Given the description of an element on the screen output the (x, y) to click on. 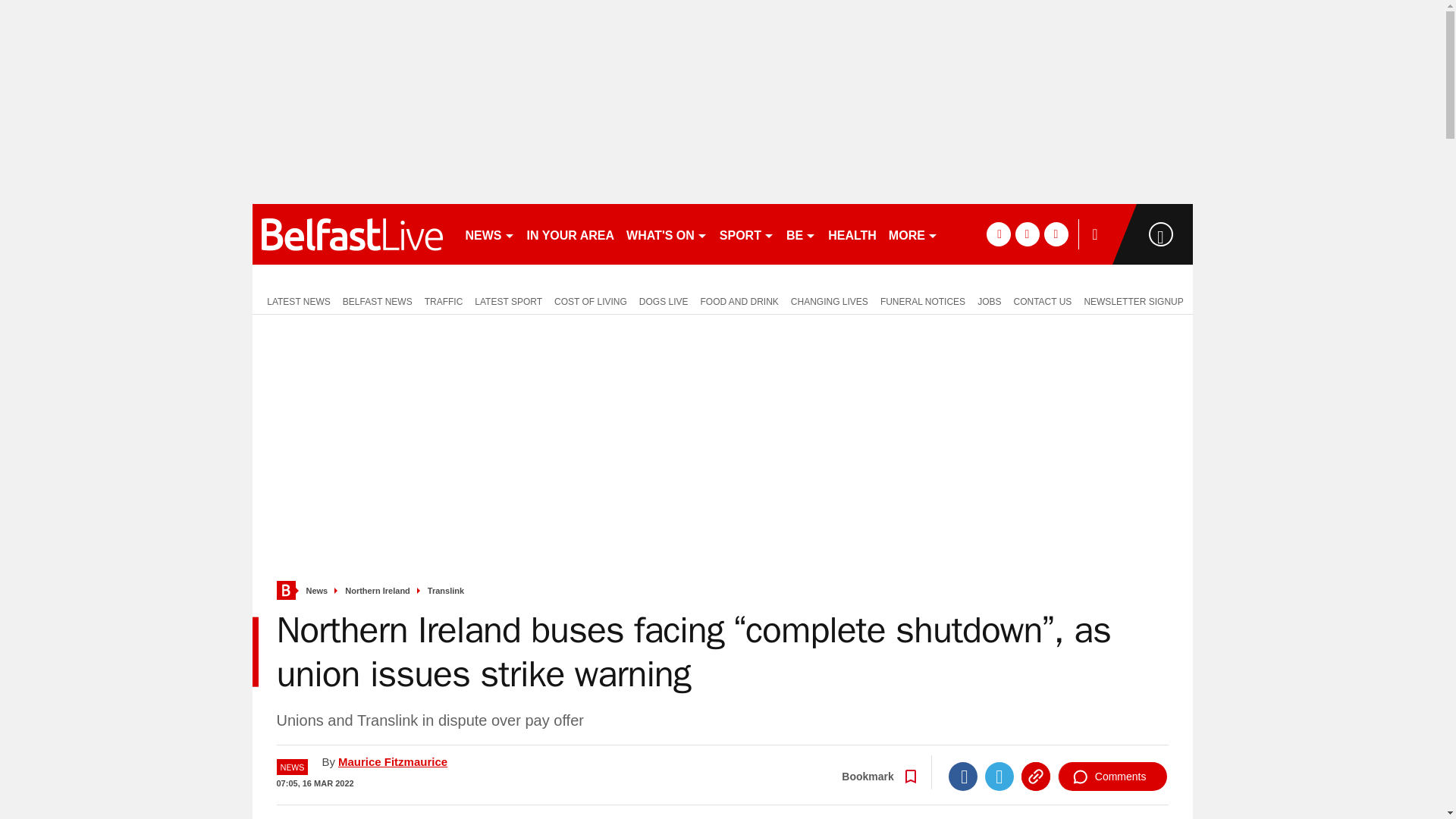
Twitter (999, 776)
IN YOUR AREA (569, 233)
instagram (1055, 233)
facebook (997, 233)
Facebook (962, 776)
twitter (1026, 233)
Comments (1112, 776)
NEWS (490, 233)
SPORT (746, 233)
WHAT'S ON (666, 233)
belfastlive (351, 233)
